Given the description of an element on the screen output the (x, y) to click on. 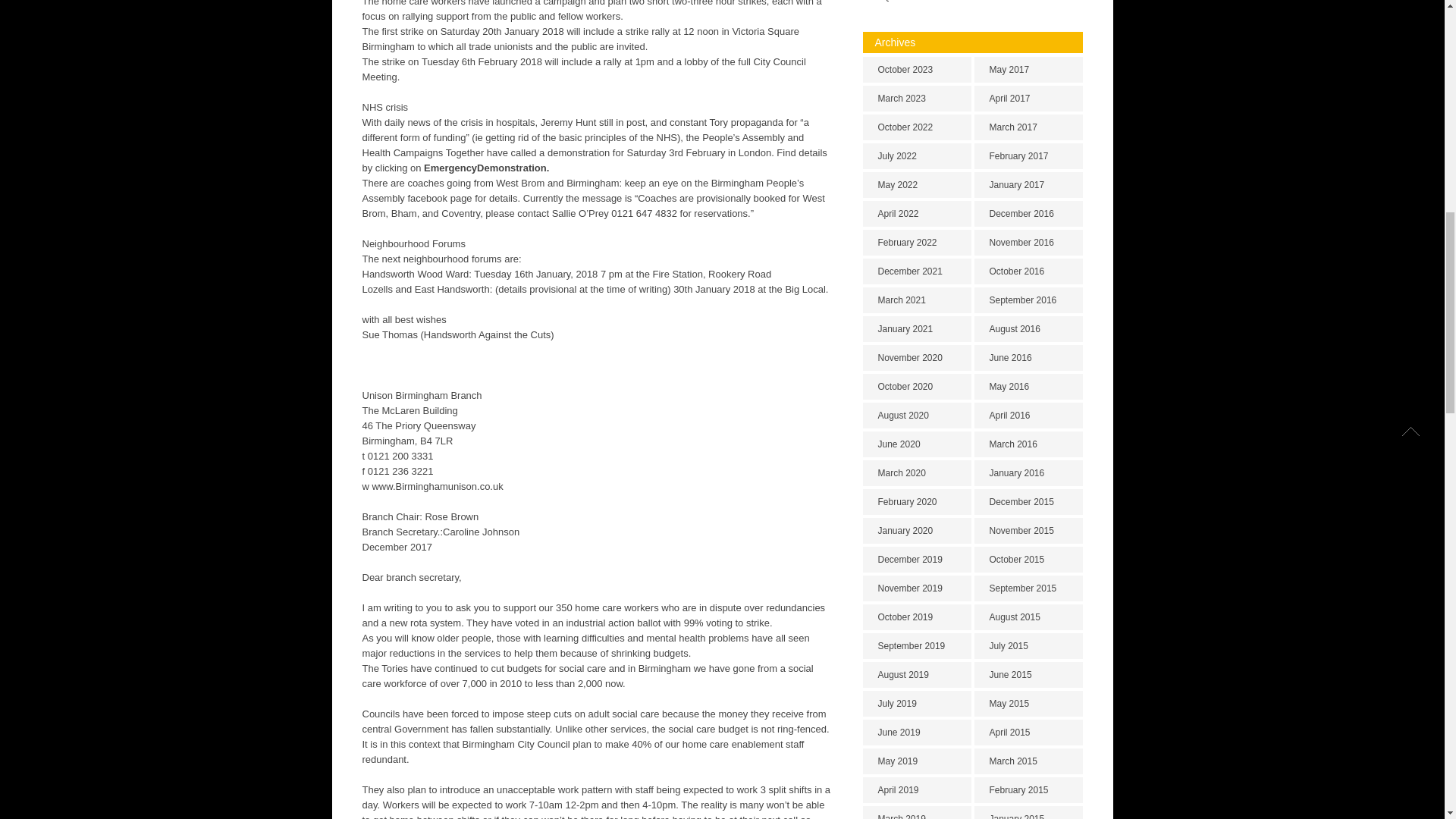
October 2023 (917, 69)
EmergencyDemonstration. (485, 167)
